Given the description of an element on the screen output the (x, y) to click on. 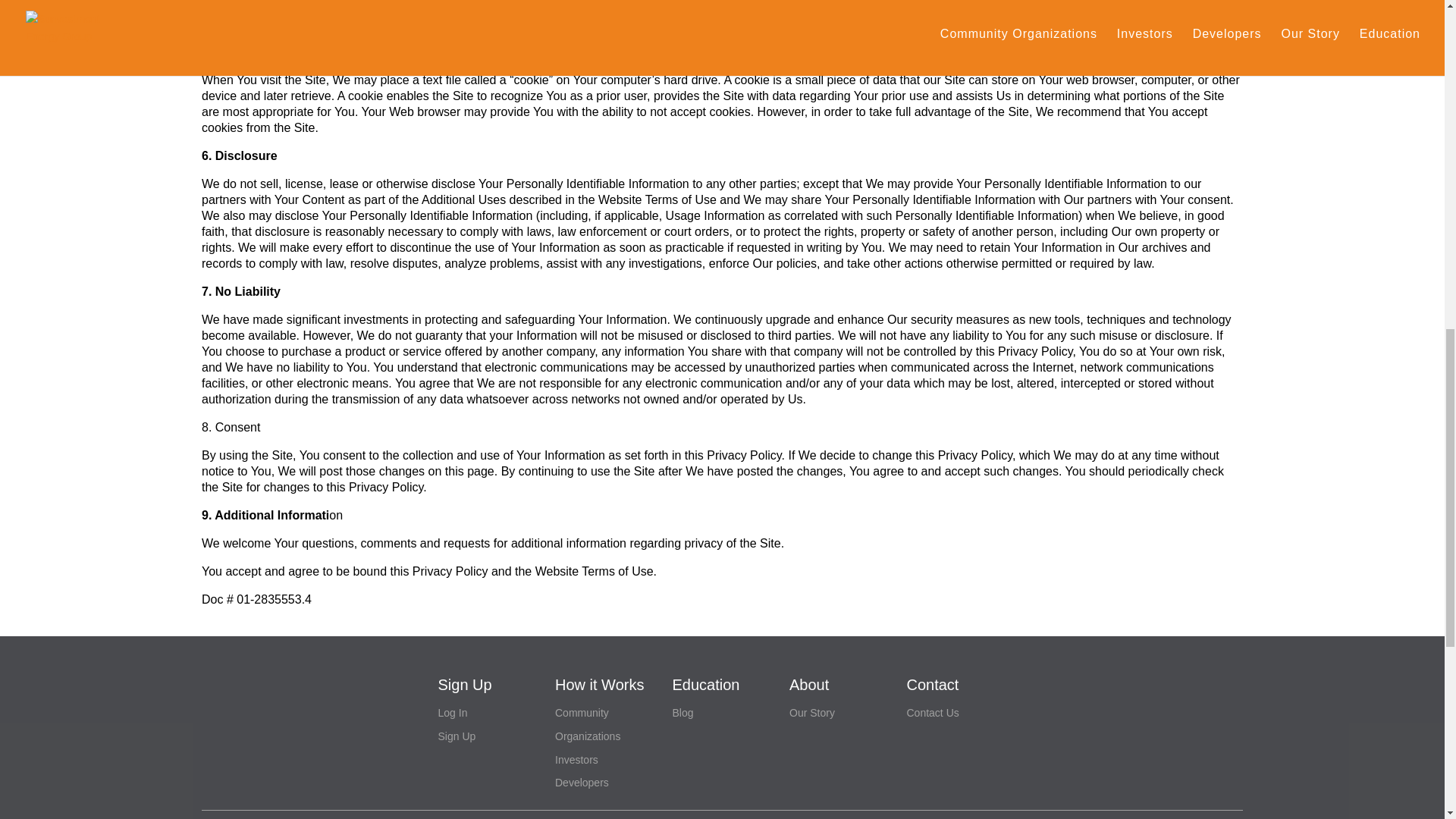
Blog (682, 712)
Log In (452, 712)
Investors (576, 759)
Community Organizations (587, 724)
Contact Us (933, 712)
Our Story (811, 712)
Sign Up (457, 736)
Developers (581, 782)
